Given the description of an element on the screen output the (x, y) to click on. 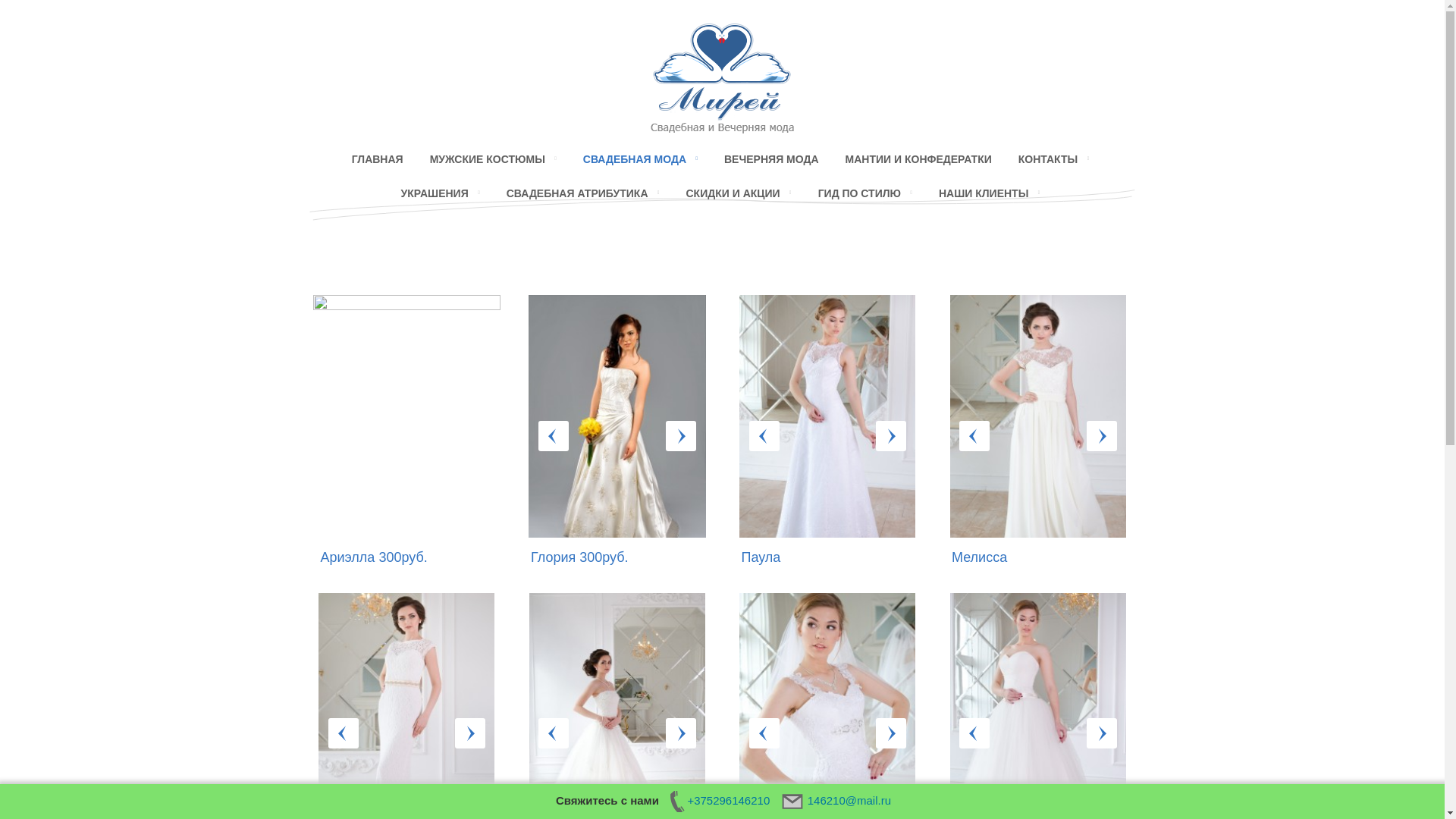
+375296146210 Element type: text (716, 799)
Skip to content Element type: text (721, 143)
146210@mail.ru Element type: text (837, 799)
